Given the description of an element on the screen output the (x, y) to click on. 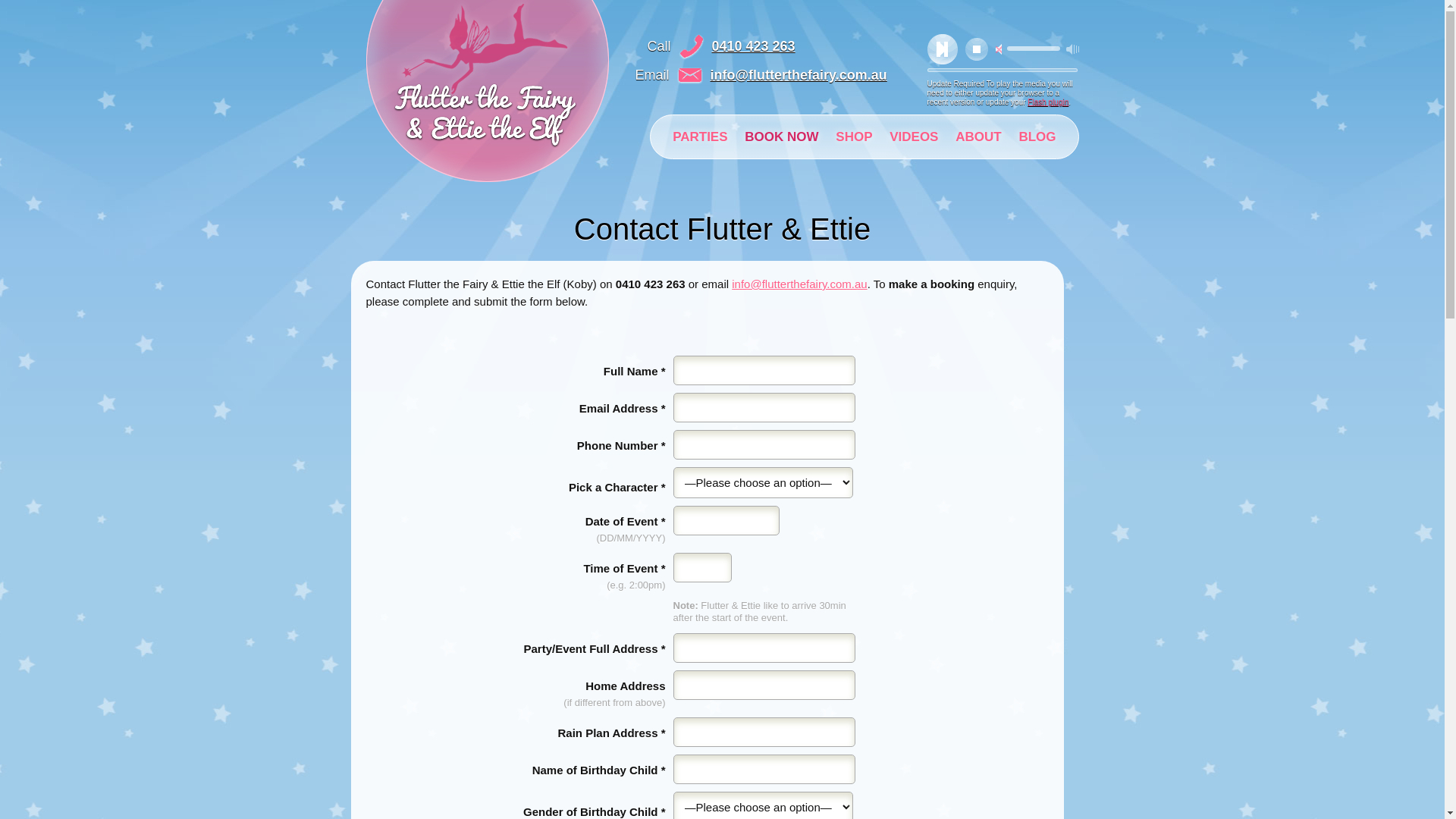
BOOK NOW Element type: text (781, 136)
info@flutterthefairy.com.au Element type: text (798, 74)
VIDEOS Element type: text (913, 136)
max volume Element type: text (1072, 48)
SHOP Element type: text (853, 136)
mute Element type: text (997, 48)
play Element type: text (941, 49)
stop Element type: text (975, 48)
0410 423 263 Element type: text (753, 45)
PARTIES Element type: text (699, 136)
info@flutterthefairy.com.au Element type: text (798, 283)
Flash plugin Element type: text (1047, 101)
BLOG Element type: text (1036, 136)
ABOUT Element type: text (977, 136)
